Given the description of an element on the screen output the (x, y) to click on. 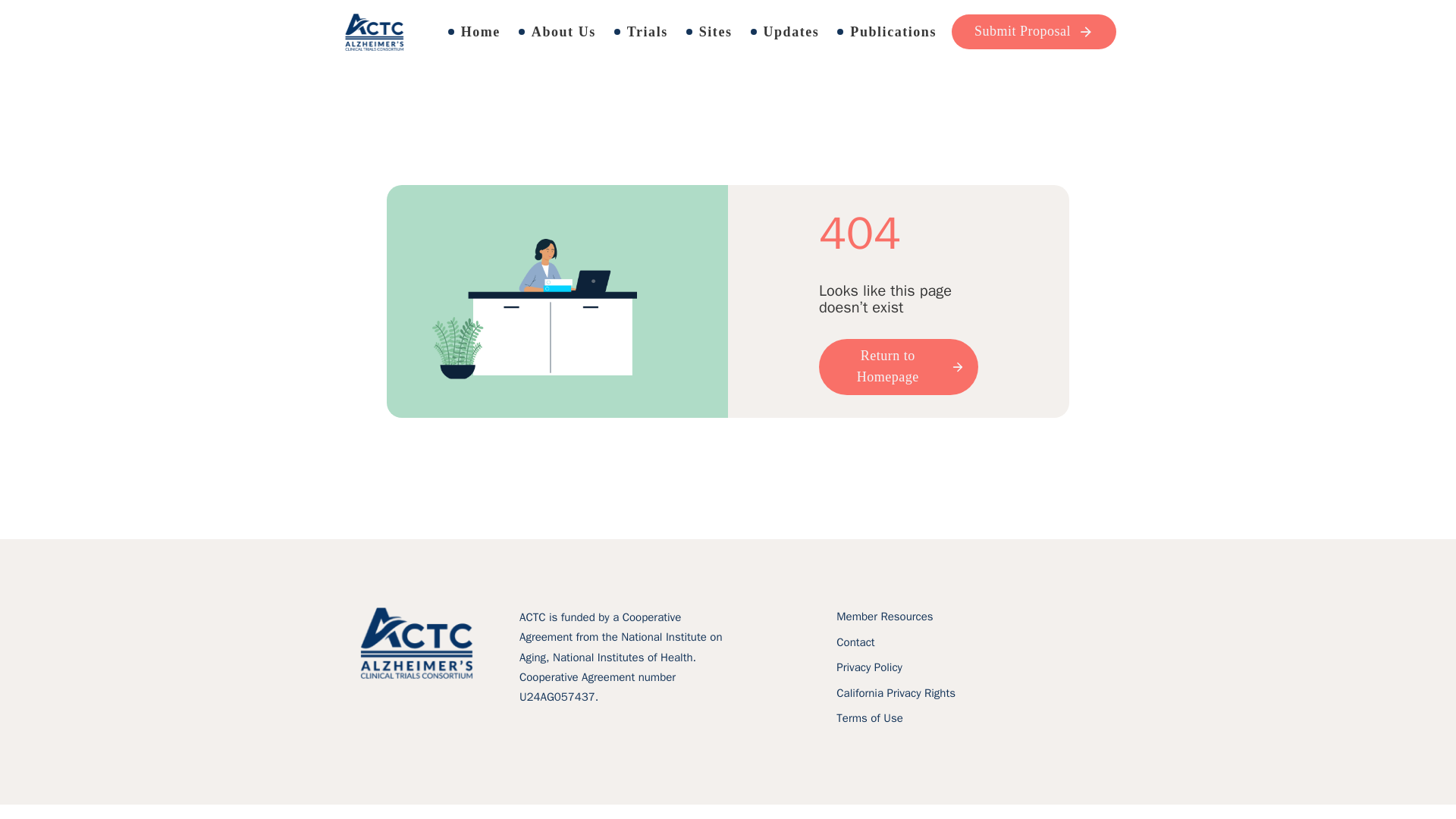
Trials (642, 32)
Contact (855, 642)
Sites (710, 32)
Submit Proposal (1034, 31)
Terms of Use (868, 718)
About Us (558, 32)
California Privacy Rights (895, 693)
Member Resources (884, 617)
Updates (786, 32)
Publications (888, 32)
